Given the description of an element on the screen output the (x, y) to click on. 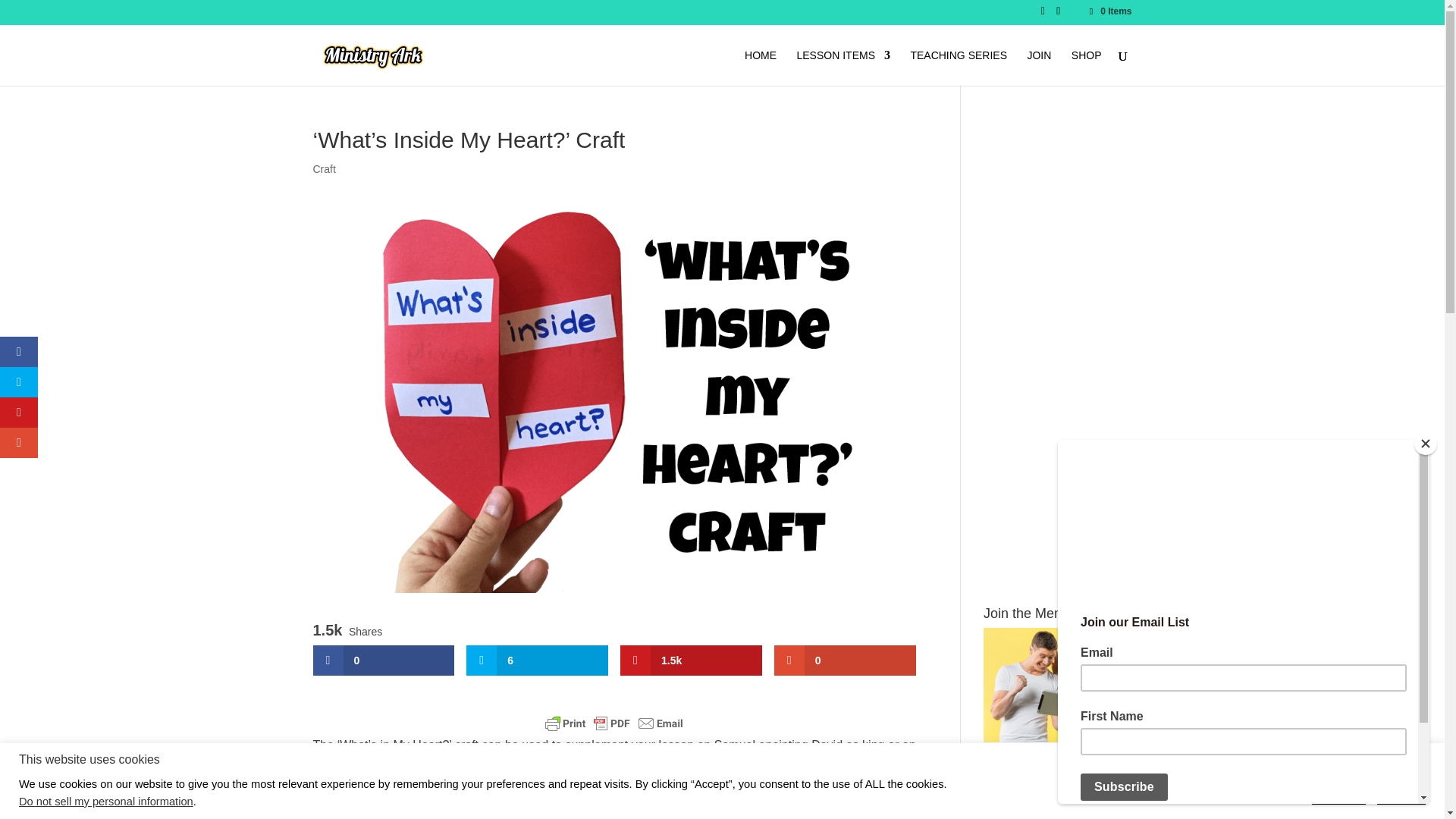
6 (536, 660)
Advertisement (1057, 812)
0 (844, 660)
0 (383, 660)
Craft (323, 168)
0 Items (1108, 10)
HOME (760, 67)
TEACHING SERIES (958, 67)
LESSON ITEMS (842, 67)
1.5k (690, 660)
